Given the description of an element on the screen output the (x, y) to click on. 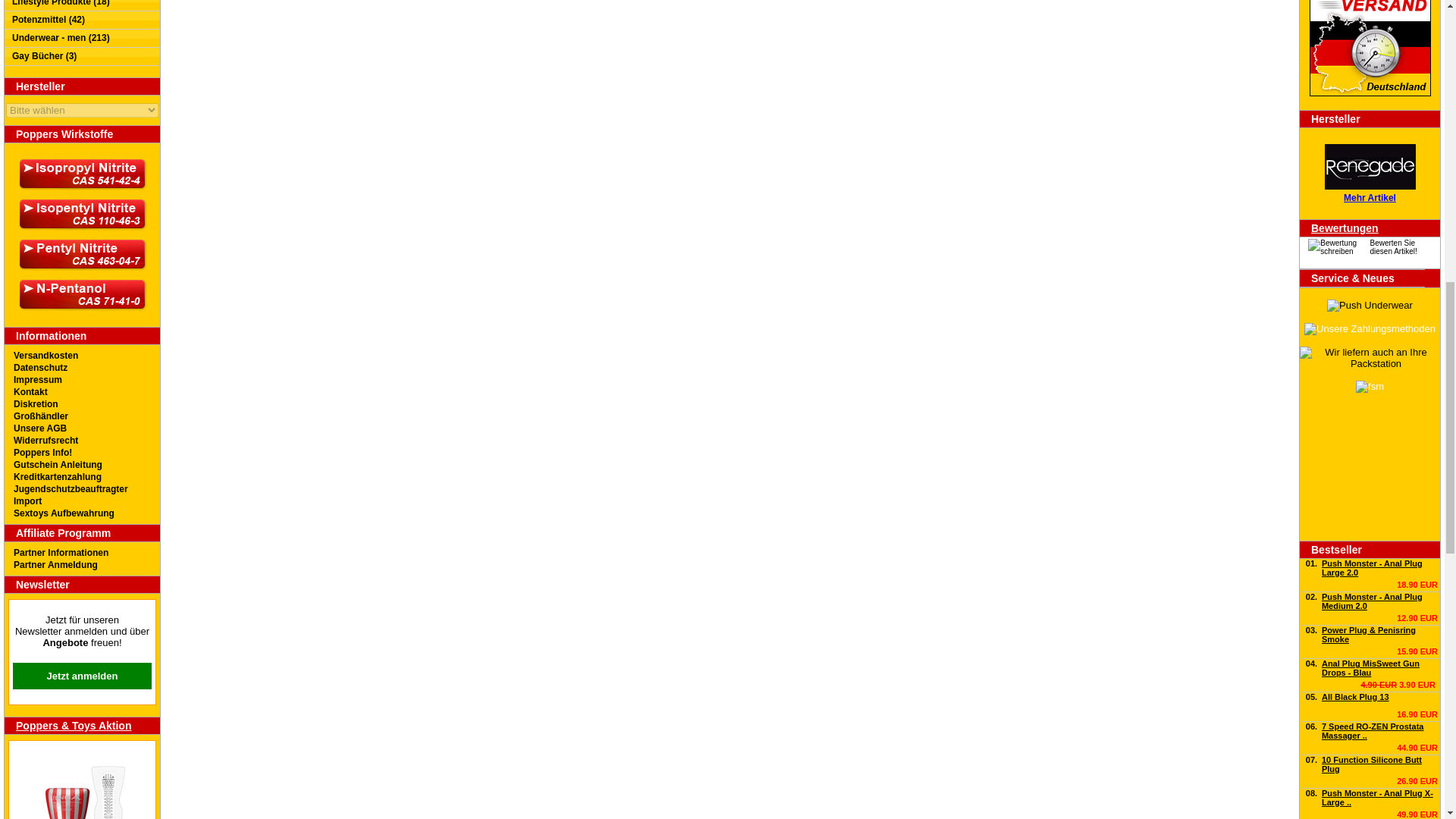
 Bewertung schreiben  (1337, 247)
